Given the description of an element on the screen output the (x, y) to click on. 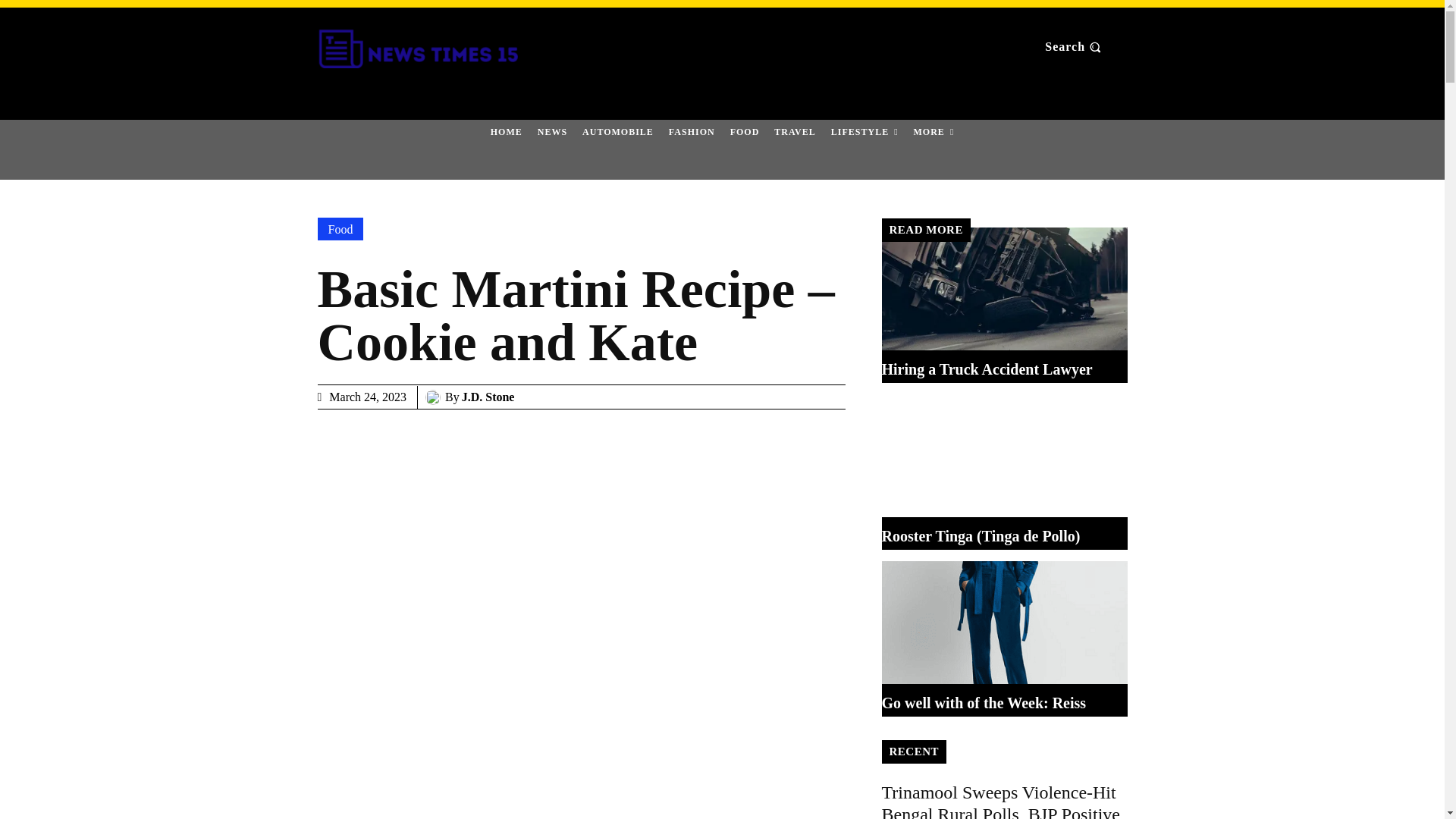
NEWS (552, 131)
Search (1074, 47)
FOOD (744, 131)
MORE (933, 131)
HOME (506, 131)
Food (339, 228)
LIFESTYLE (864, 131)
AUTOMOBILE (618, 131)
J.D. Stone (435, 396)
TRAVEL (794, 131)
J.D. Stone (488, 396)
FASHION (691, 131)
